Given the description of an element on the screen output the (x, y) to click on. 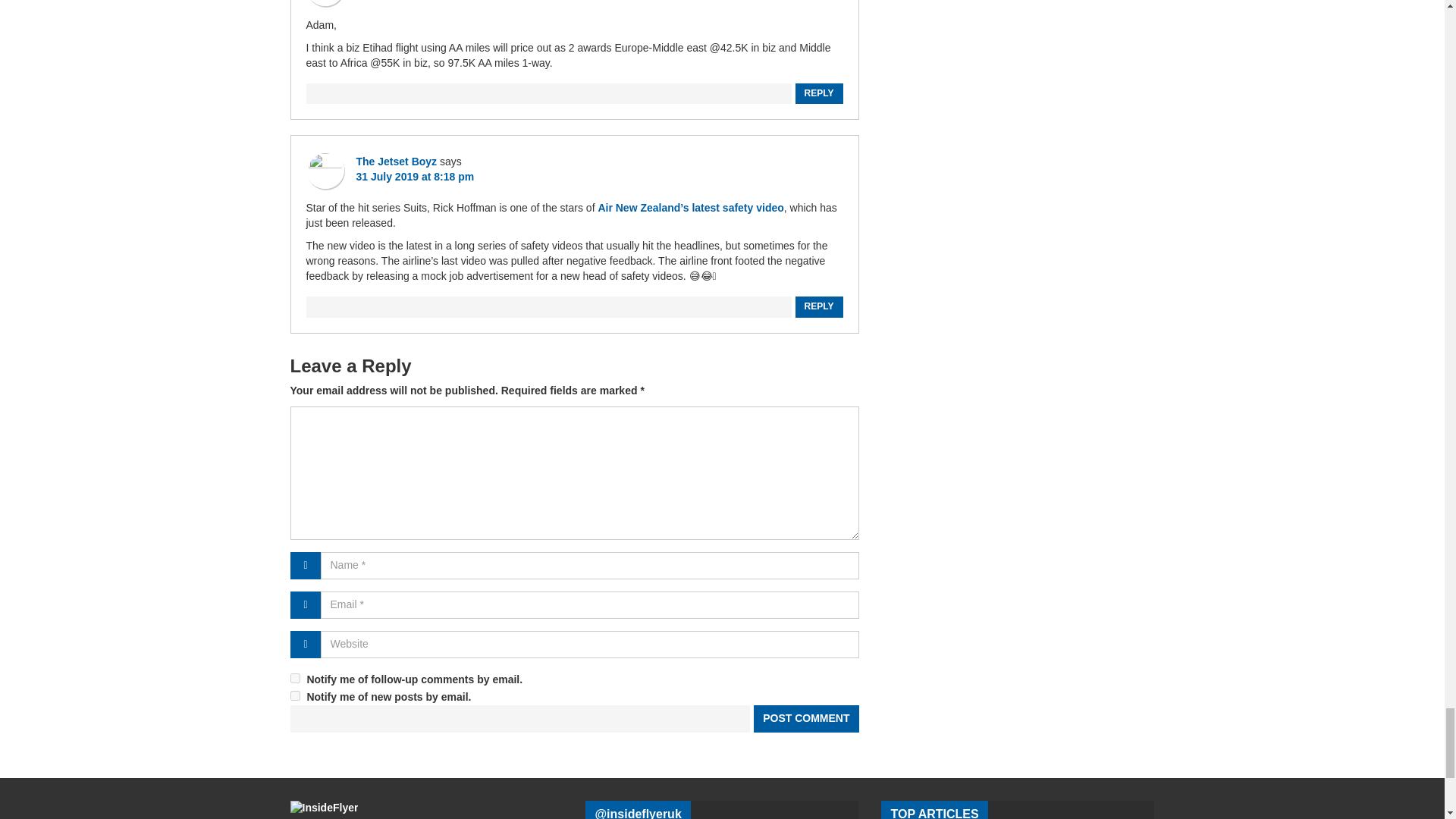
Post Comment (804, 718)
subscribe (294, 696)
subscribe (294, 678)
